Given the description of an element on the screen output the (x, y) to click on. 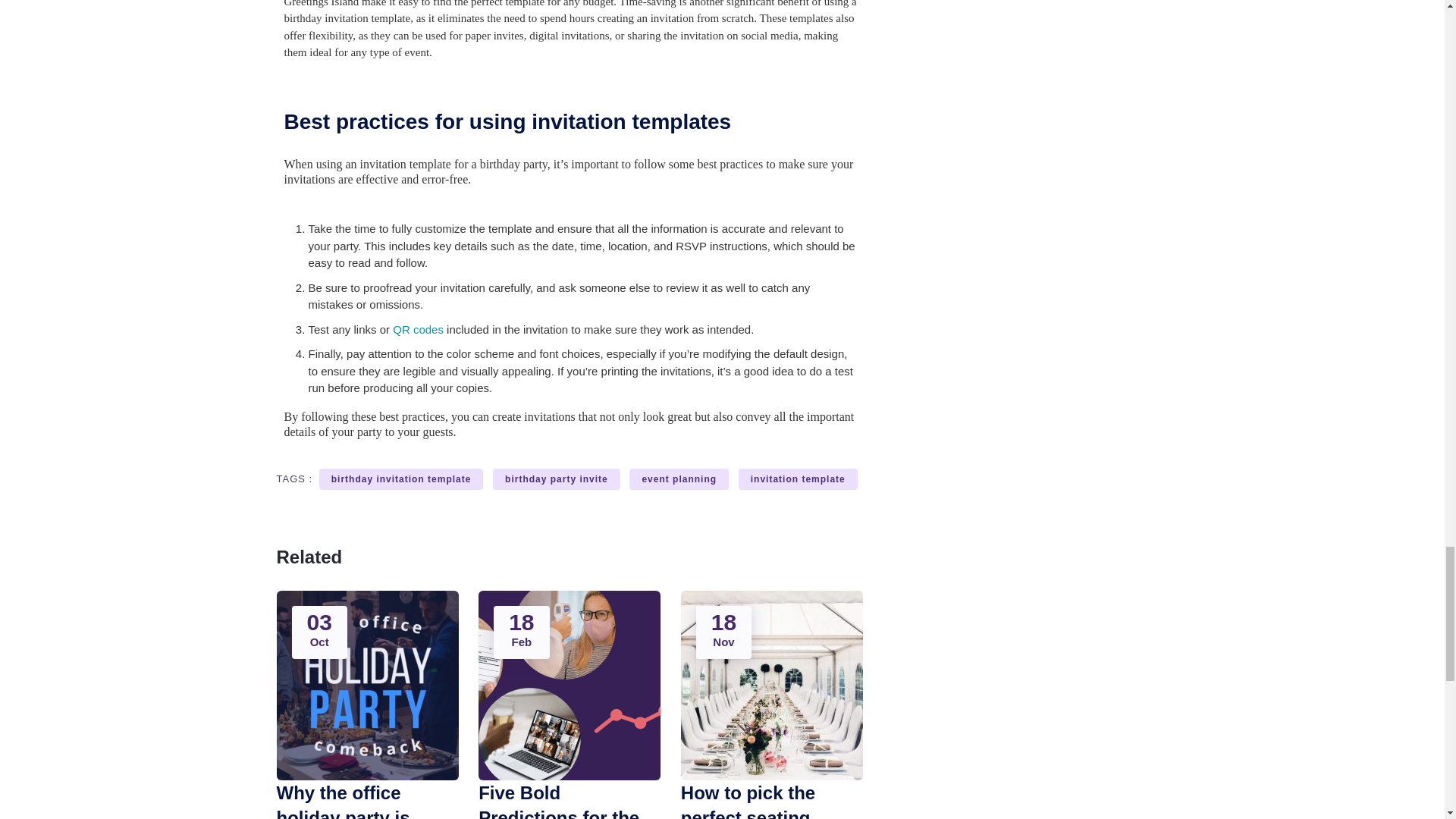
Five Bold Predictions for the Event Industry in 2021 (570, 799)
